Given the description of an element on the screen output the (x, y) to click on. 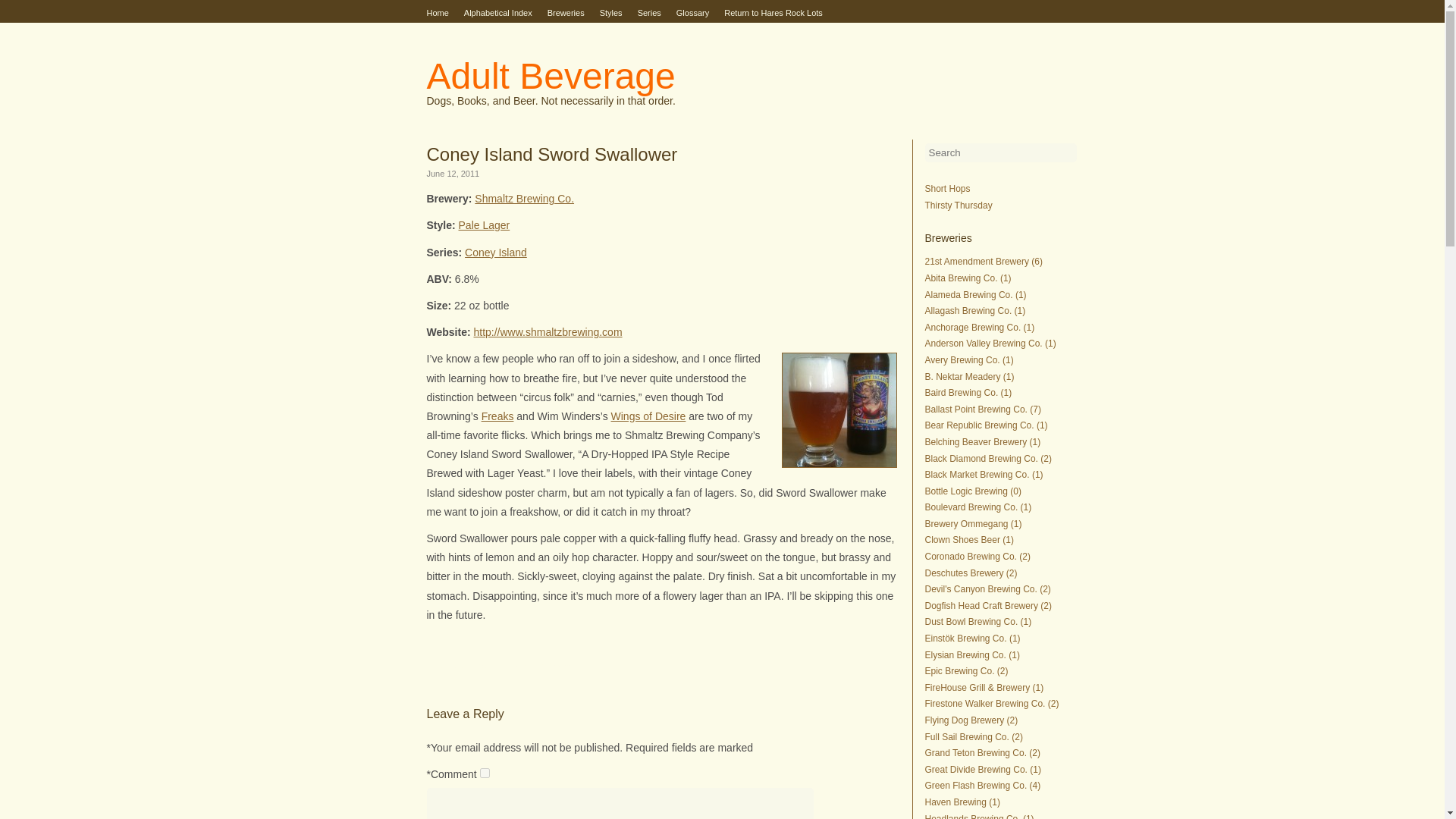
Thirsty Thursday (958, 204)
Permalink to Coney Island Sword Swallower (551, 154)
yes (484, 773)
Pale Lager (484, 224)
Glossary (693, 12)
Shmaltz Brewing Co. (523, 198)
Dogs, Books, and Beer. Not necessarily in that order. (550, 100)
Styles (611, 12)
Ross E. Lockhart (502, 664)
Short Hops (947, 188)
Adult Beverage (550, 75)
Freaks (497, 416)
Wings of Desire (648, 416)
Check out this item on Amazon (497, 416)
Posts by Ross E. Lockhart (502, 664)
